Given the description of an element on the screen output the (x, y) to click on. 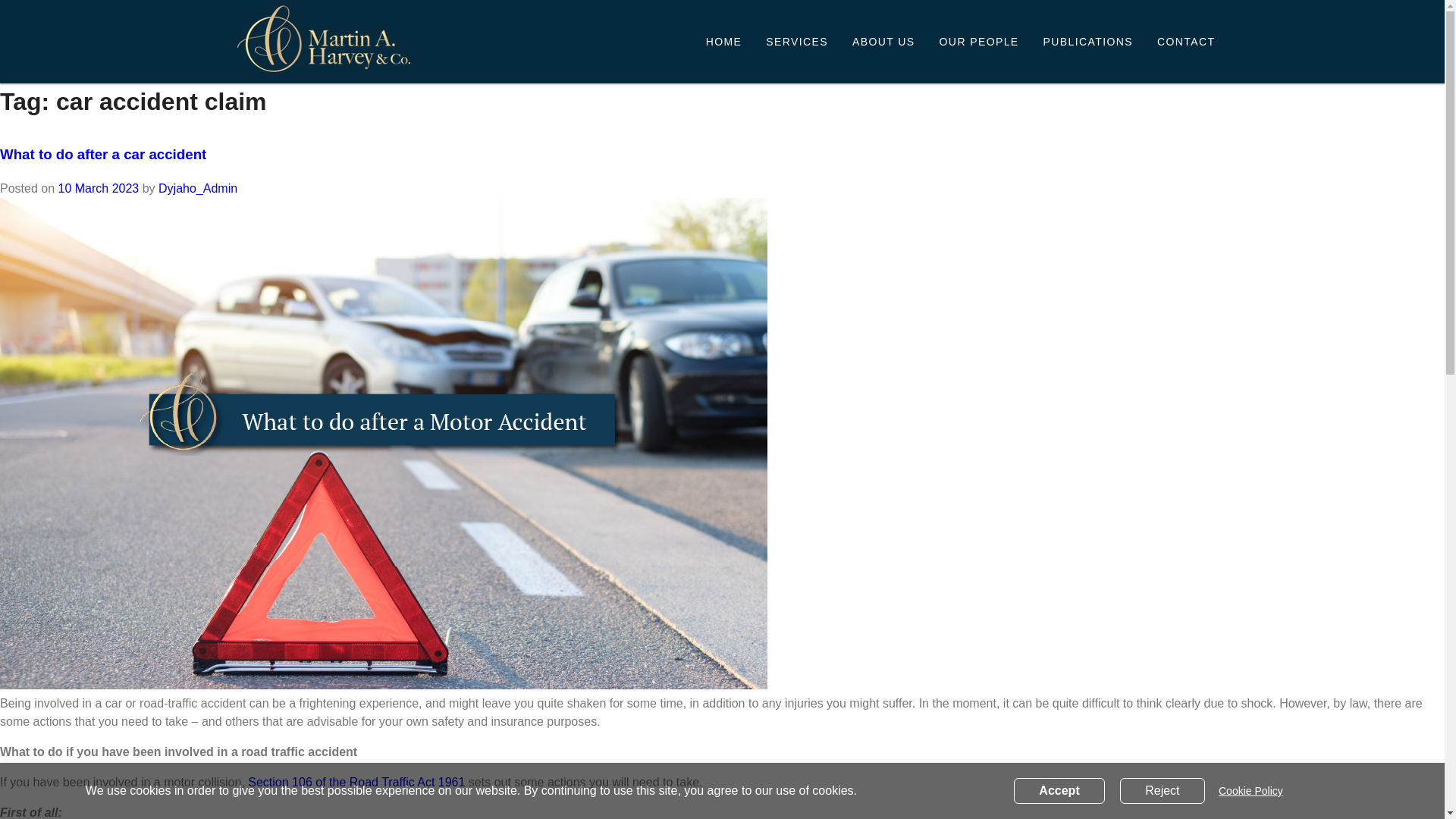
ABOUT US (883, 41)
CONTACT (1185, 41)
What to do after a car accident (103, 154)
HOME (724, 41)
PUBLICATIONS (1087, 41)
SERVICES (796, 41)
OUR PEOPLE (979, 41)
Section 106 of the Road Traffic Act 1961 (355, 781)
10 March 2023 (98, 187)
